Given the description of an element on the screen output the (x, y) to click on. 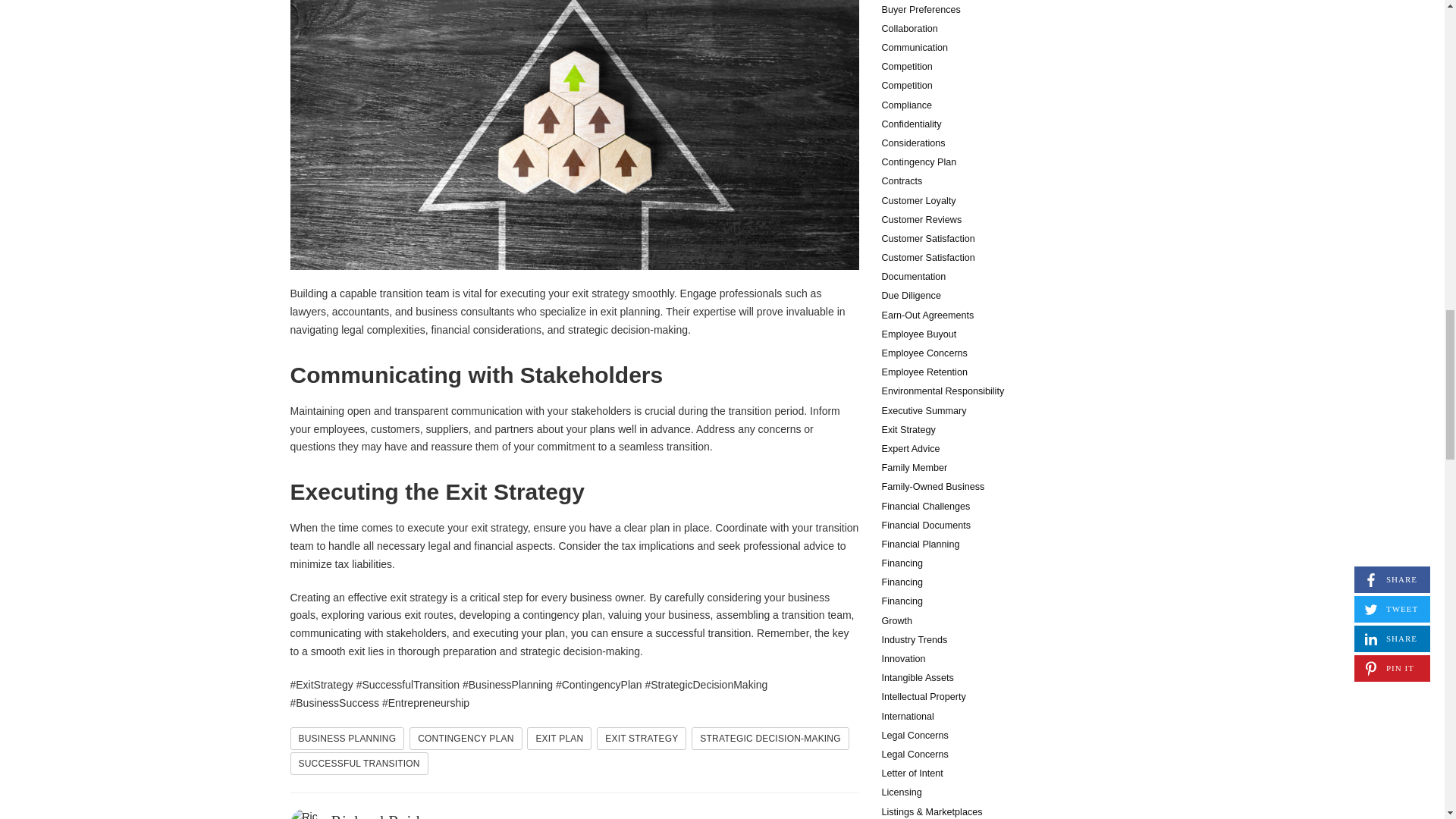
exit plan Tag (559, 738)
BUSINESS PLANNING (346, 738)
contingency plan Tag (465, 738)
business planning Tag (346, 738)
STRATEGIC DECISION-MAKING (769, 738)
strategic decision-making Tag (769, 738)
Richard Reid (374, 815)
exit strategy Tag (640, 738)
EXIT STRATEGY (640, 738)
